Given the description of an element on the screen output the (x, y) to click on. 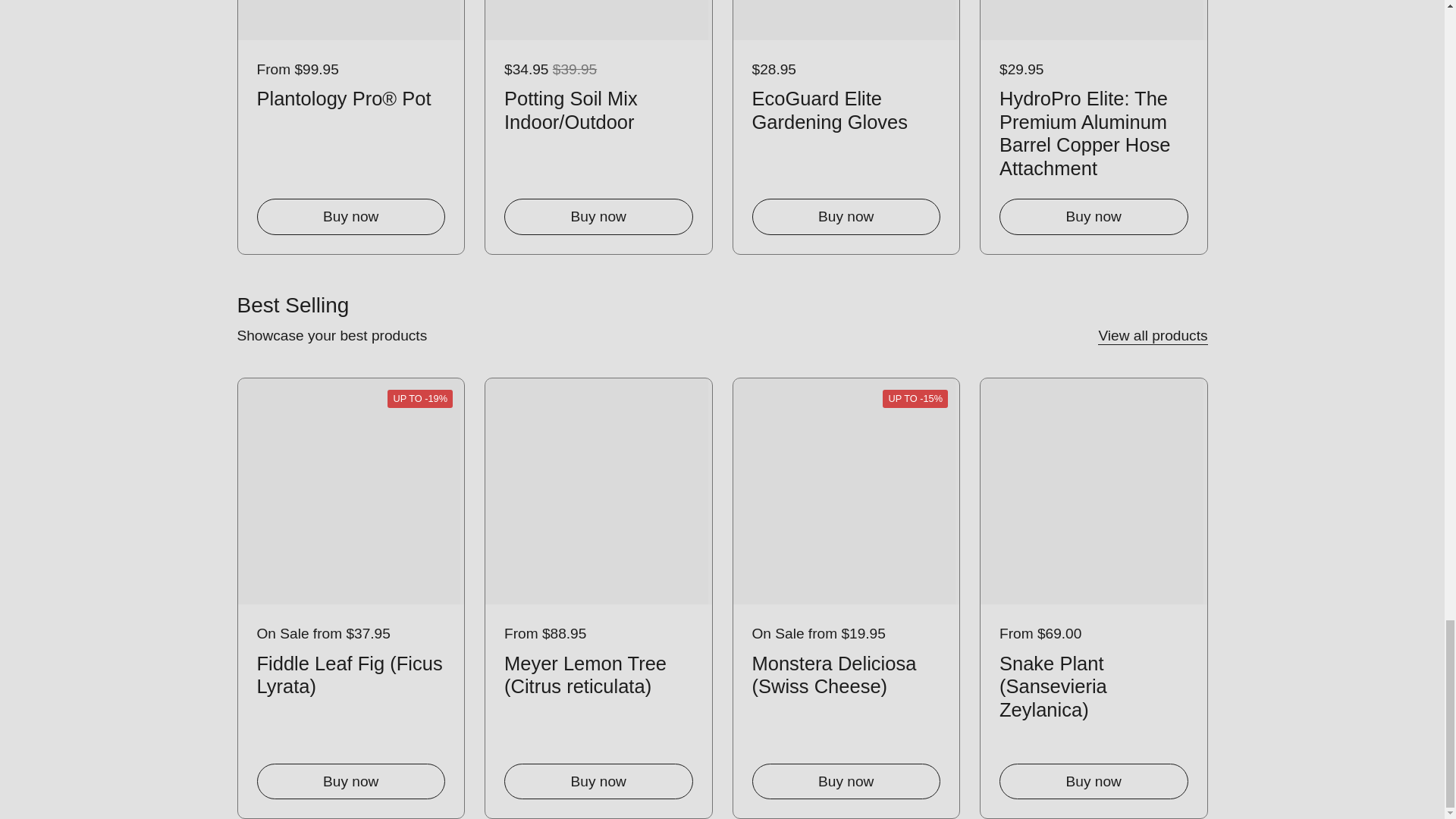
EcoGuard Elite Gardening Gloves (846, 107)
Stainless Steel Garden Hose with Premium Brass Nozzle (1340, 130)
